Given the description of an element on the screen output the (x, y) to click on. 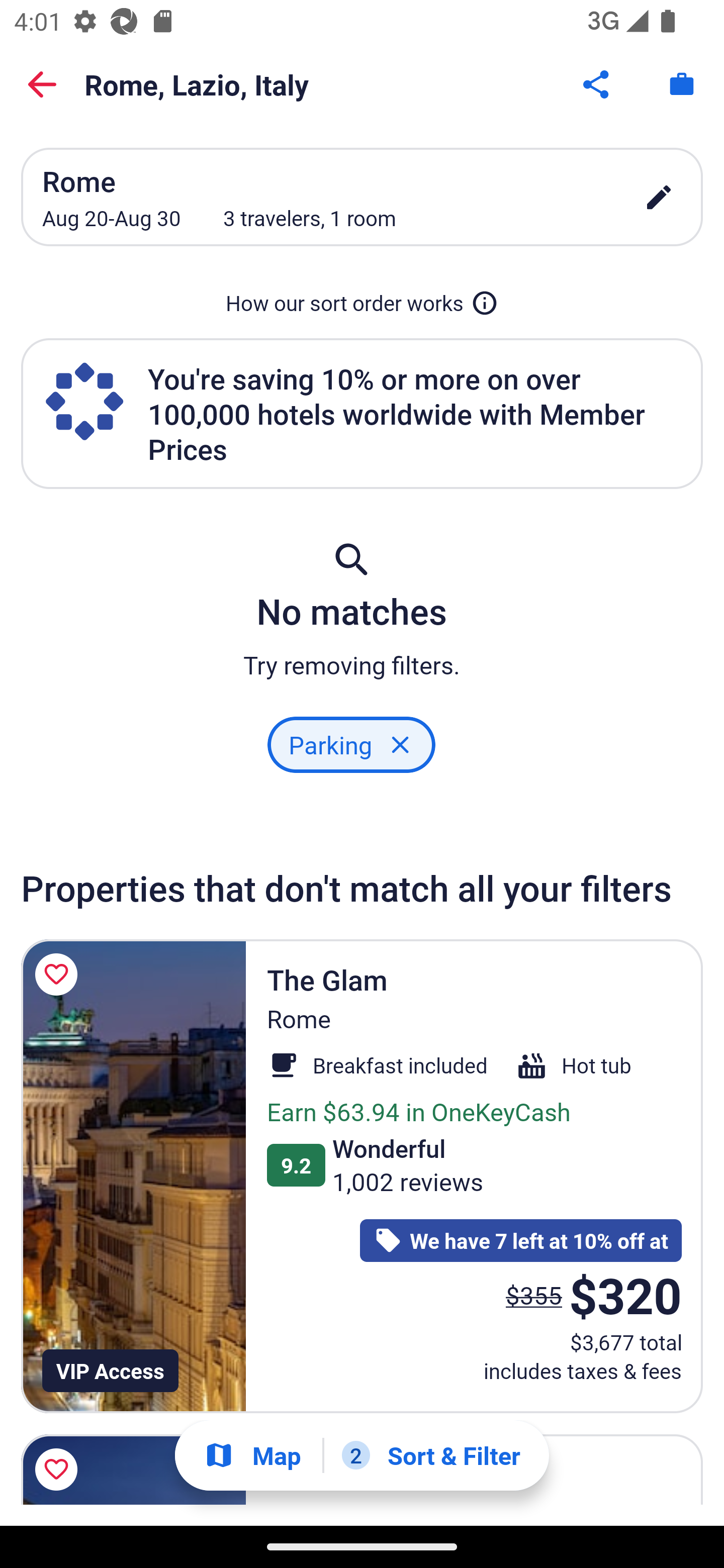
Back (42, 84)
Share Button (597, 84)
Trips. Button (681, 84)
Rome Aug 20-Aug 30 3 travelers, 1 room edit (361, 196)
How our sort order works (361, 303)
FREE_PARKING (351, 744)
Save The Glam to a trip (59, 974)
The Glam (133, 1175)
$355 The price was $355 (533, 1294)
2 Sort & Filter 2 Filters applied. Filters Button (430, 1455)
Save Hotel Artemide to a trip (59, 1465)
Show map Map Show map Button (252, 1455)
